Given the description of an element on the screen output the (x, y) to click on. 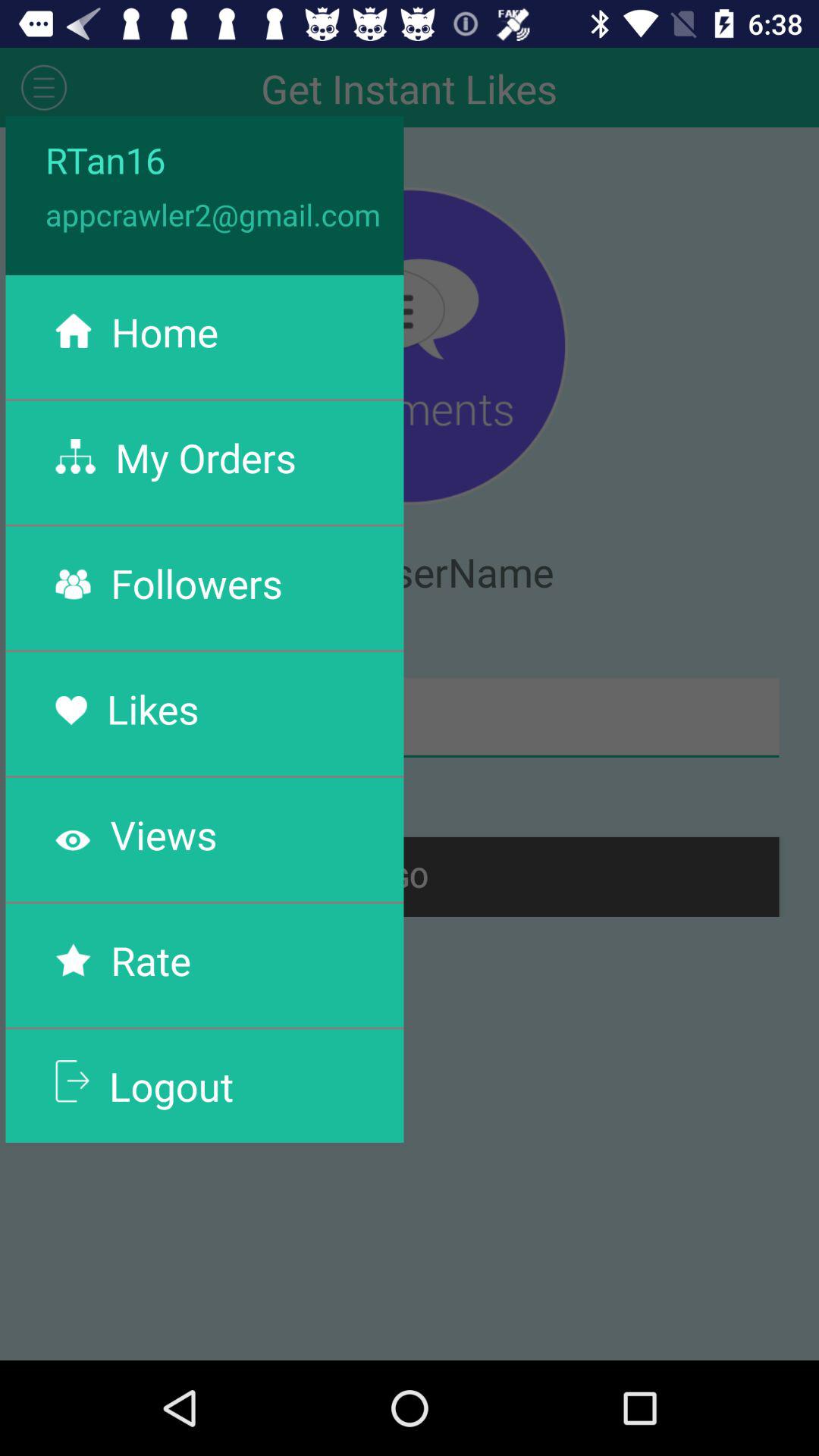
flip until likes icon (152, 708)
